Given the description of an element on the screen output the (x, y) to click on. 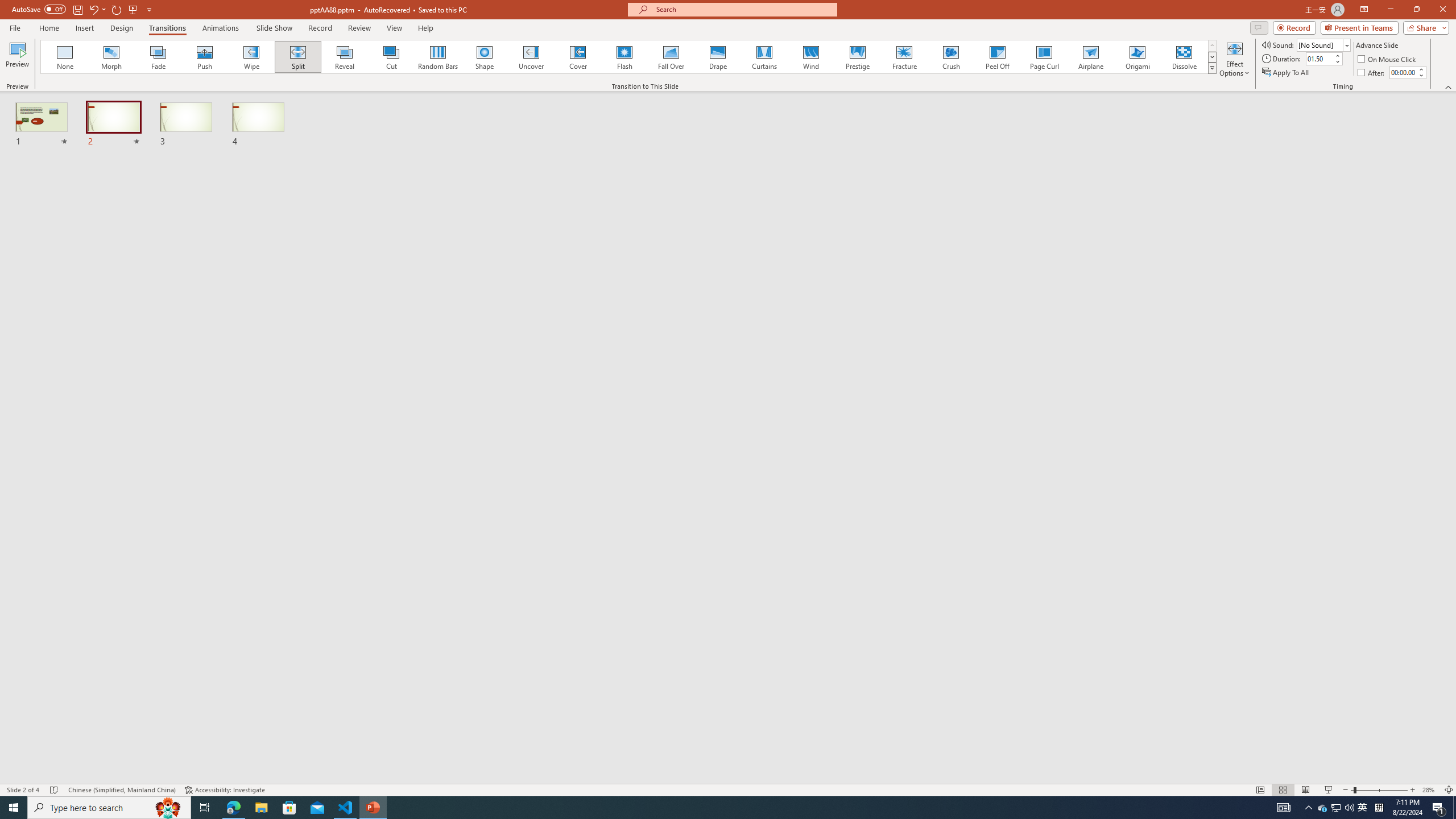
On Mouse Click (1387, 58)
Curtains (764, 56)
After (1372, 72)
Apply To All (1286, 72)
Shape (484, 56)
